Given the description of an element on the screen output the (x, y) to click on. 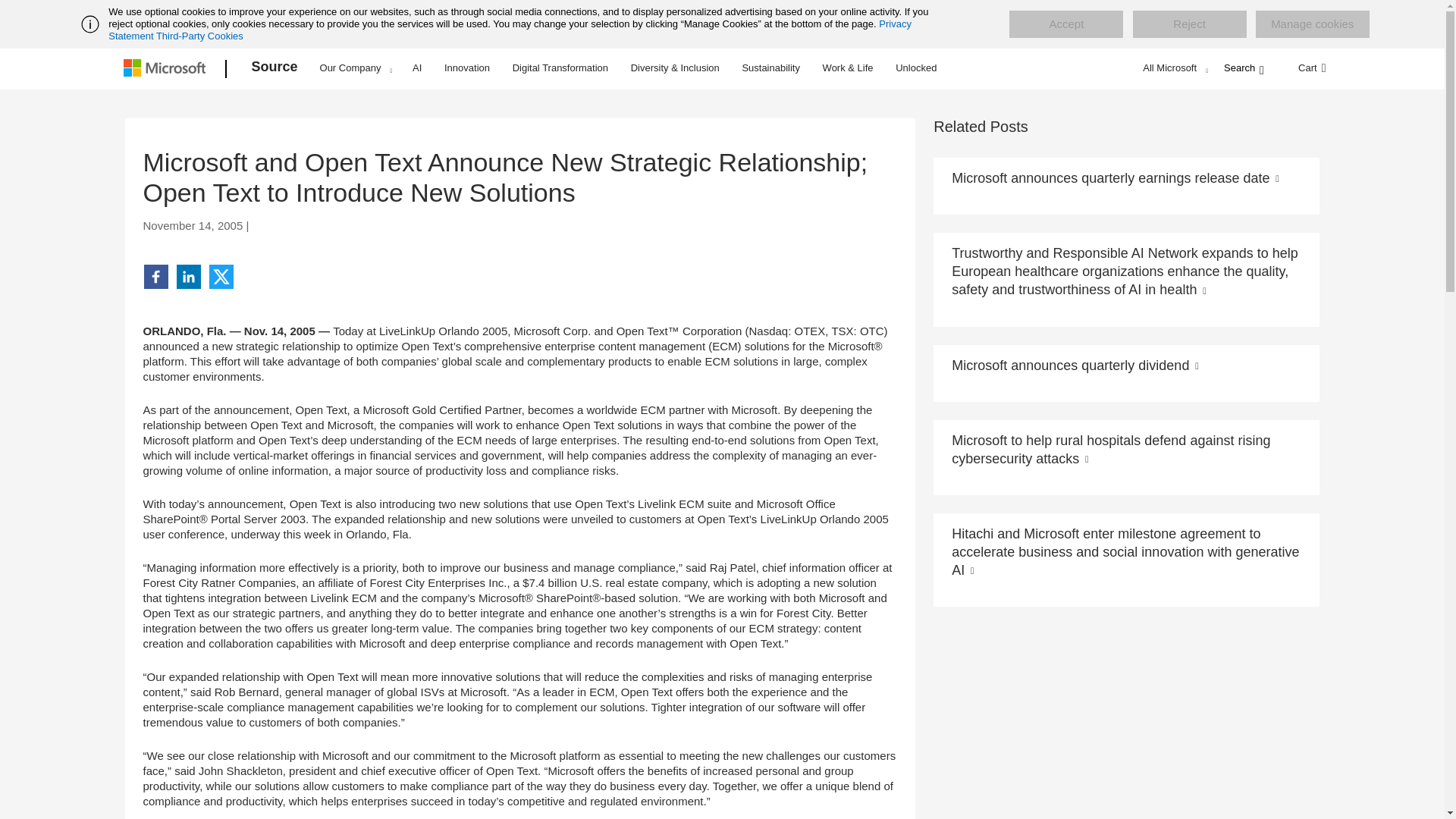
Unlocked (915, 67)
Sustainability (770, 67)
Digital Transformation (559, 67)
Manage cookies (1312, 23)
Accept (1065, 23)
Source (274, 69)
Microsoft (167, 69)
Innovation (467, 67)
Reject (1189, 23)
Our Company (355, 67)
Privacy Statement (509, 29)
Third-Party Cookies (199, 35)
All Microsoft (1173, 67)
